Given the description of an element on the screen output the (x, y) to click on. 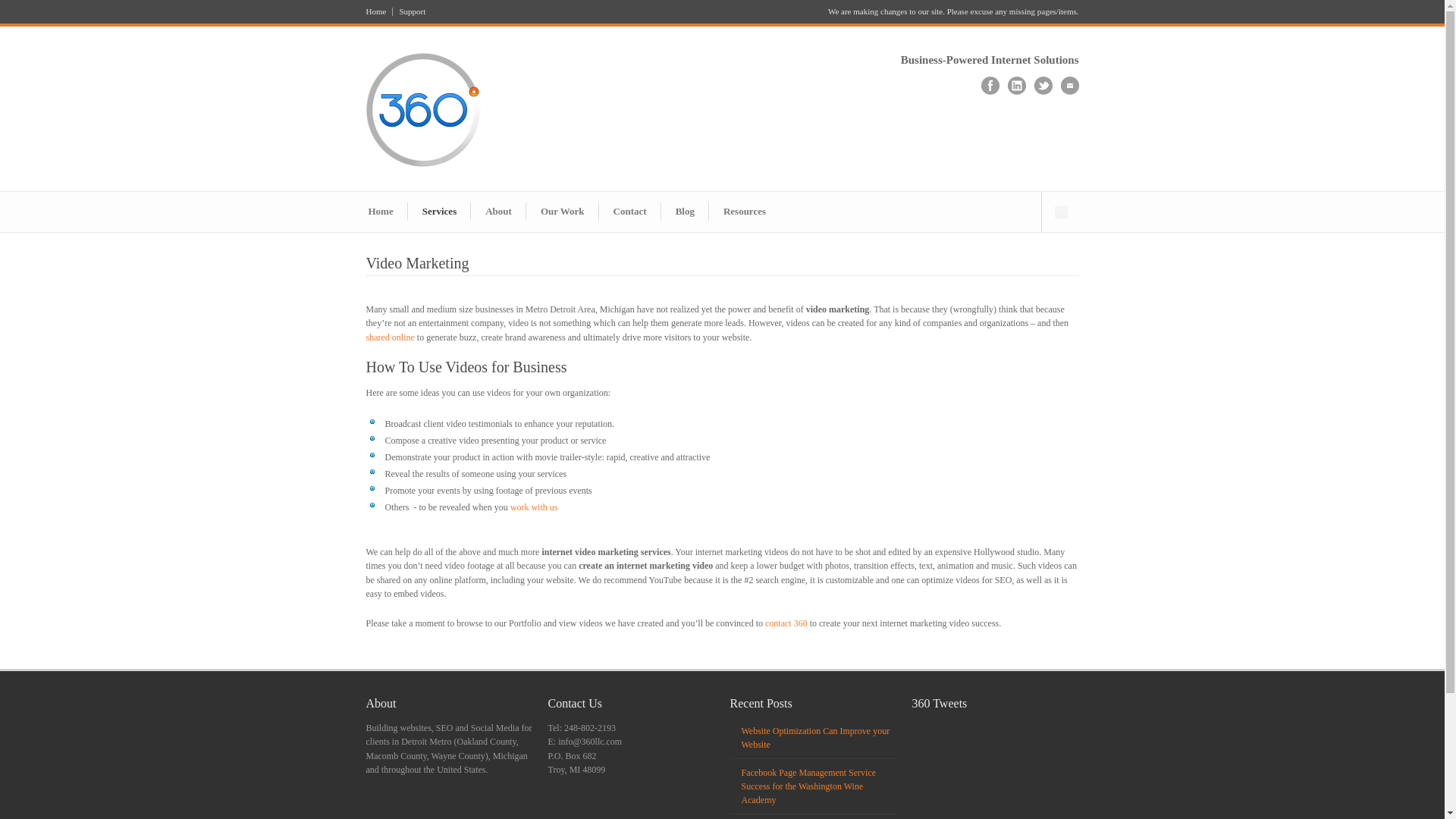
work with us Element type: text (534, 507)
shared online Element type: text (389, 337)
Our Work Element type: text (562, 211)
About Element type: text (498, 211)
Home Element type: text (378, 11)
contact 360 Element type: text (786, 623)
Contact Element type: text (630, 211)
Website Optimization Can Improve your Website Element type: text (815, 737)
Support Element type: text (408, 11)
Services Element type: text (438, 211)
Resources Element type: text (744, 211)
Home Element type: text (380, 211)
Blog Element type: text (685, 211)
